Given the description of an element on the screen output the (x, y) to click on. 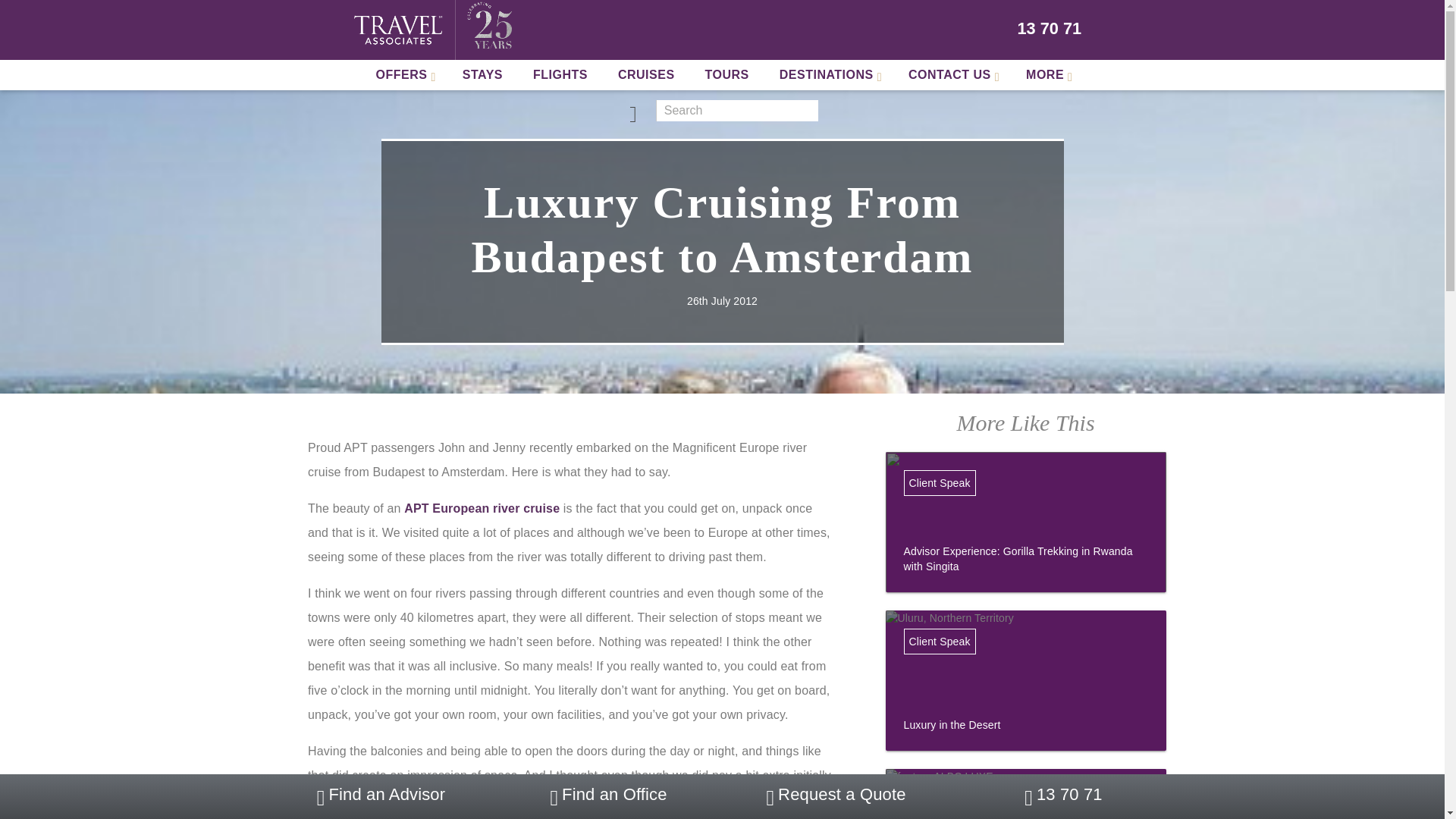
MORE (1046, 74)
DESTINATIONS (828, 74)
Uluru, Northern Territory (1025, 702)
APT (481, 508)
FLIGHTS (560, 74)
TOURS (727, 74)
OFFERS (403, 74)
STAYS (482, 74)
CRUISES (646, 74)
CONTACT US (951, 74)
